Given the description of an element on the screen output the (x, y) to click on. 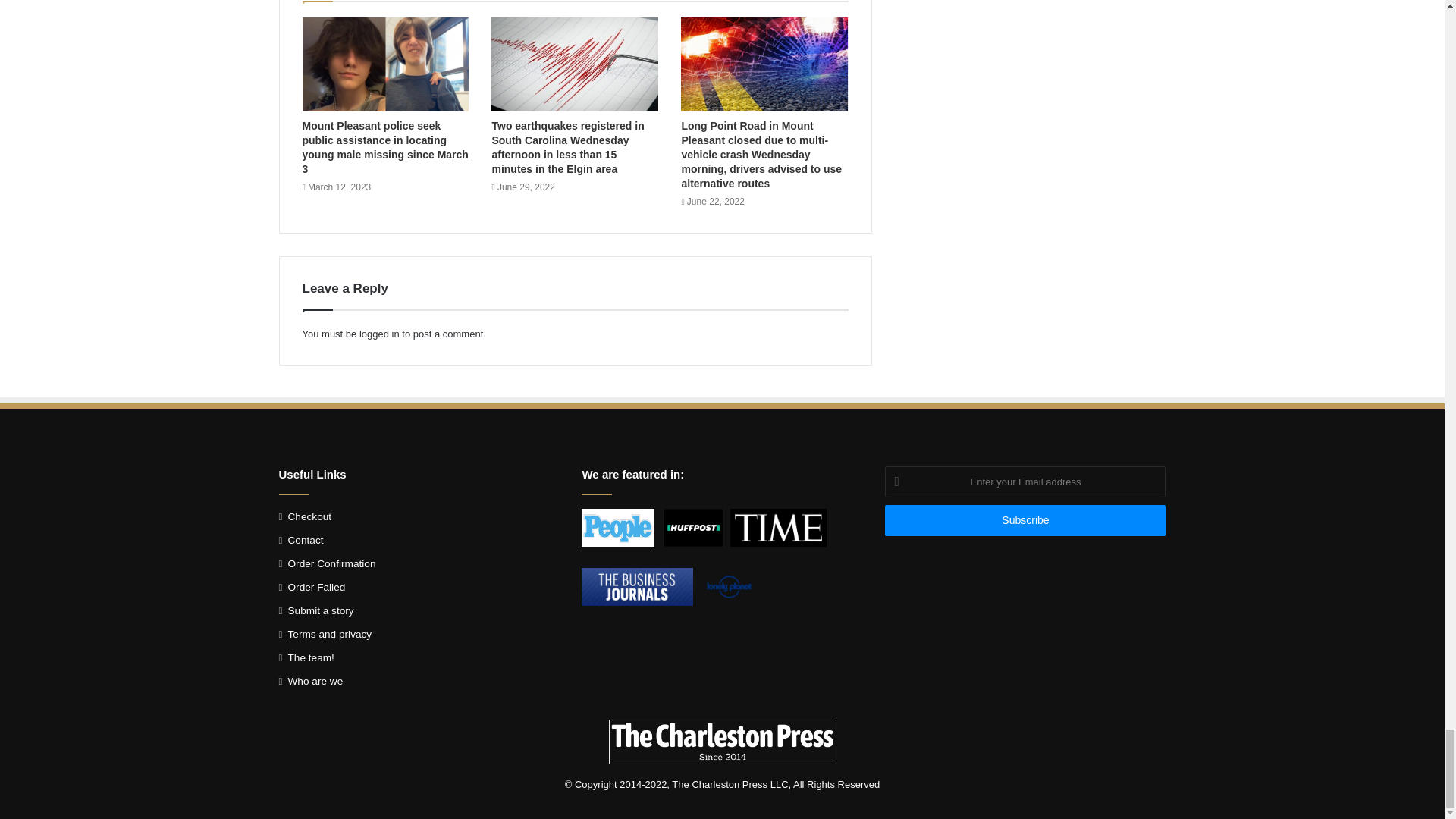
Subscribe (1025, 520)
